Given the description of an element on the screen output the (x, y) to click on. 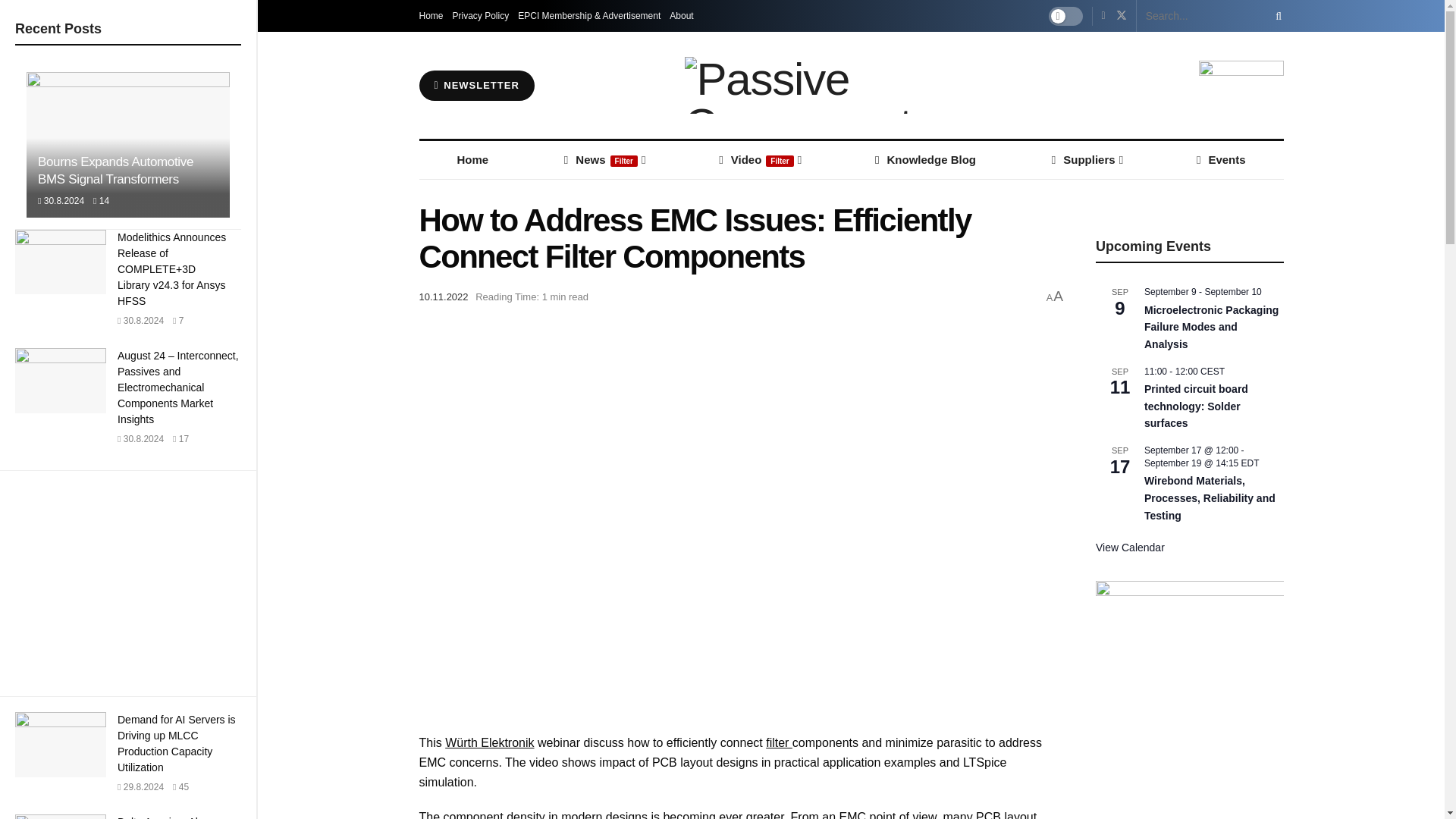
Printed circuit board technology: Solder surfaces (1195, 406)
17 (181, 439)
Privacy Policy (480, 15)
30.8.2024 (140, 439)
45 (181, 787)
14 (101, 200)
7 (178, 320)
Microelectronic Packaging Failure Modes and Analysis (1211, 327)
30.8.2024 (60, 200)
